Given the description of an element on the screen output the (x, y) to click on. 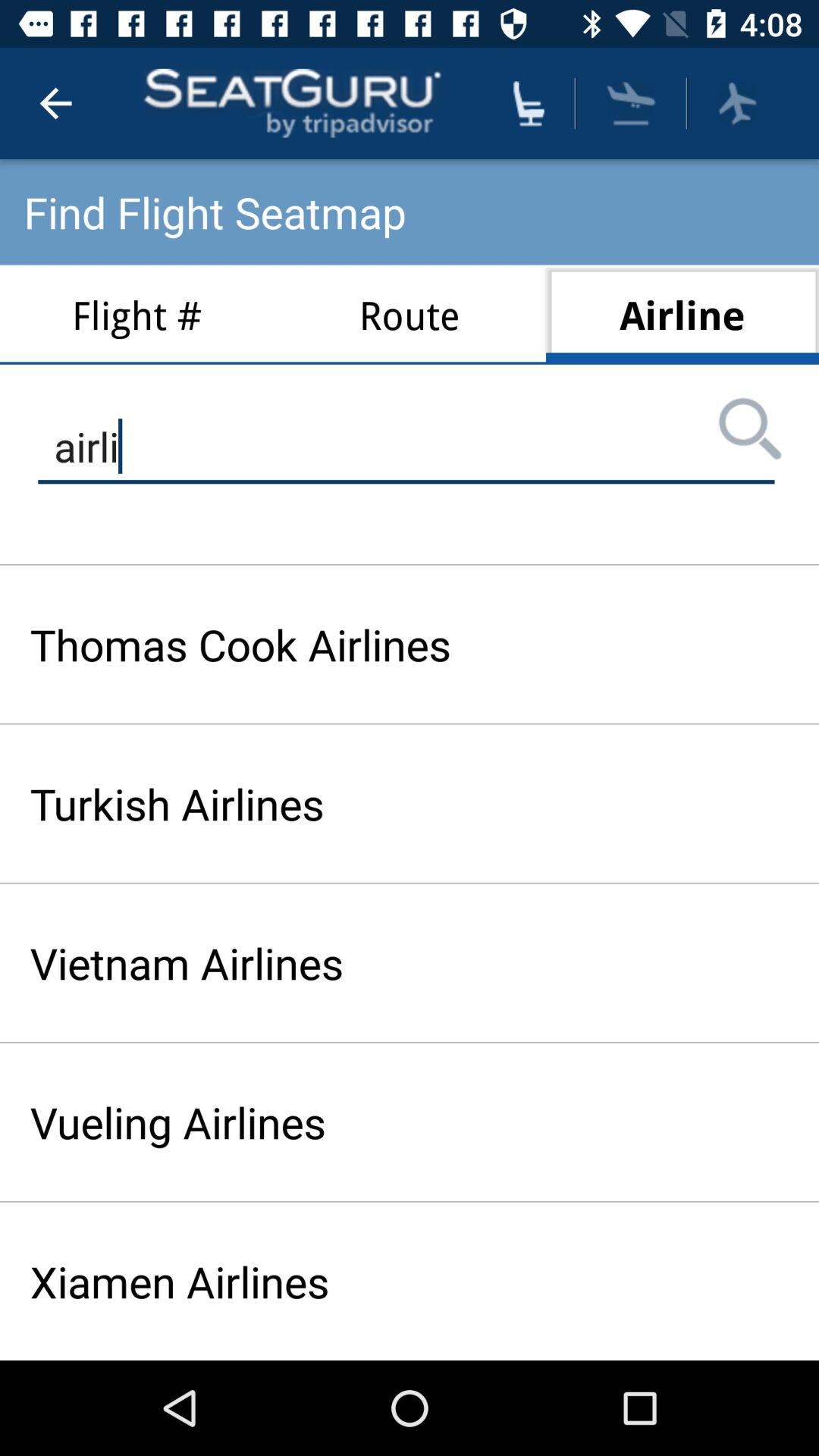
select flights (630, 103)
